Given the description of an element on the screen output the (x, y) to click on. 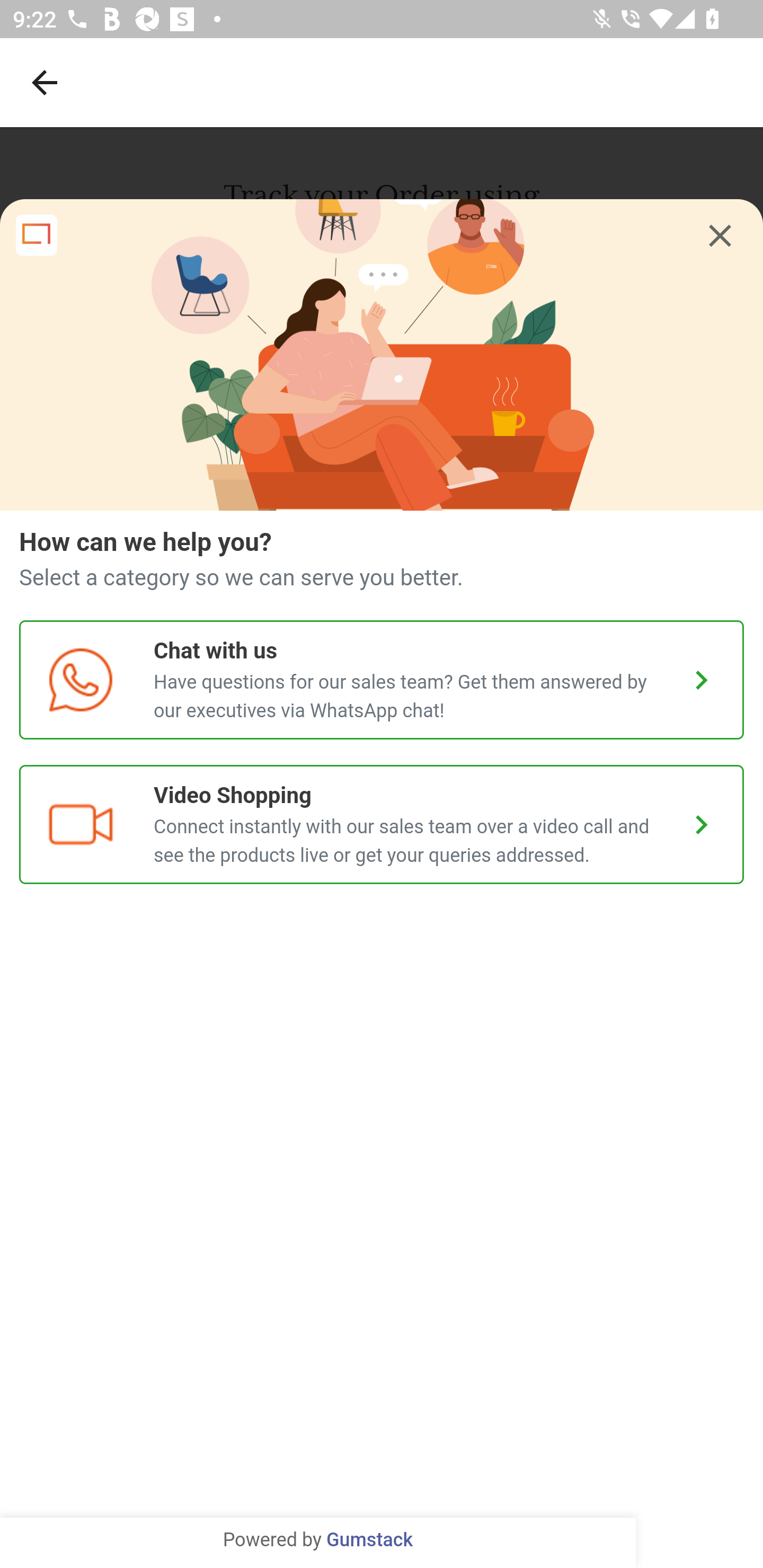
Navigate up (44, 82)
clear (720, 235)
Gumstack (369, 1540)
